Given the description of an element on the screen output the (x, y) to click on. 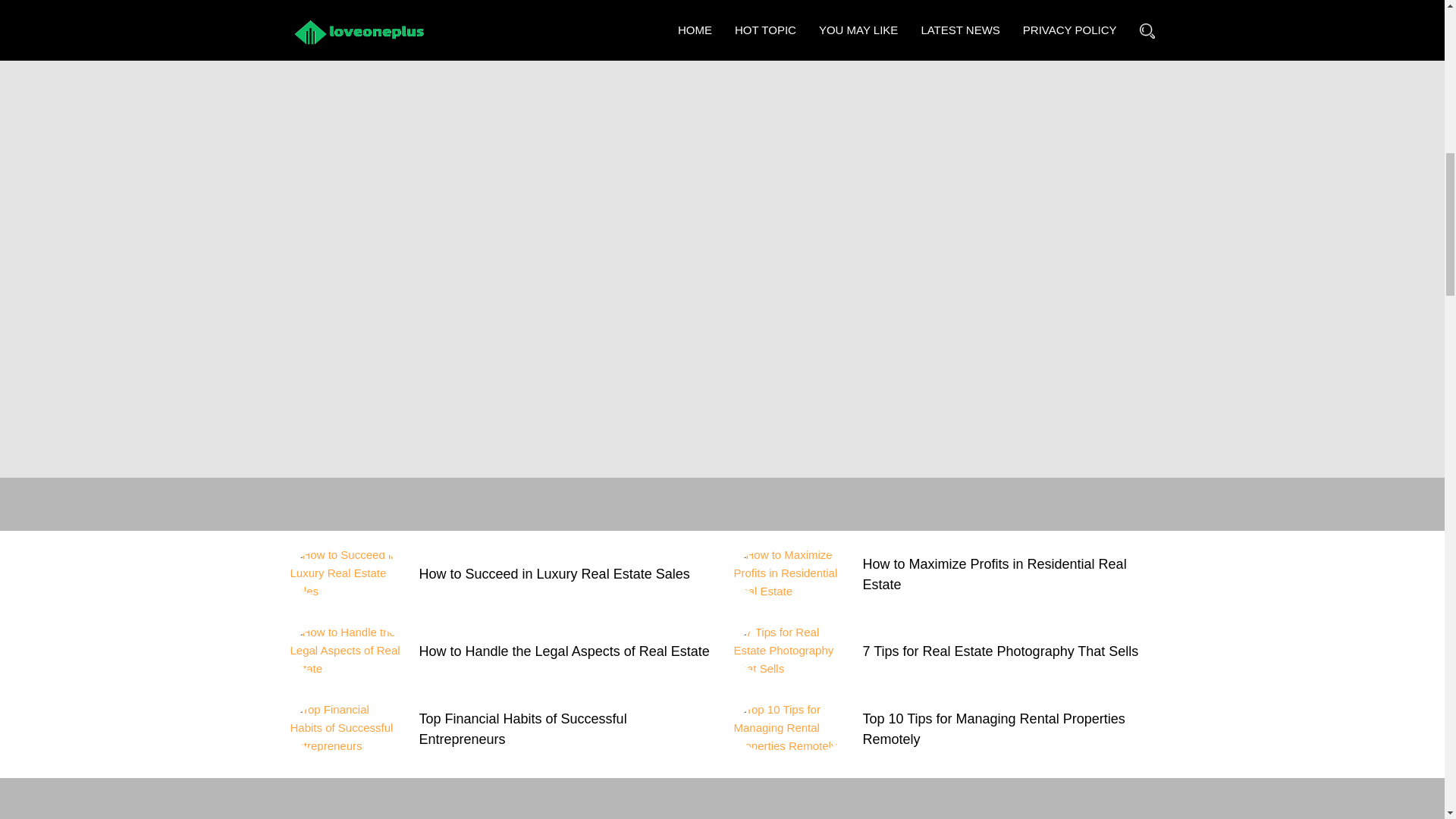
Read More (611, 11)
Read More (1054, 11)
How to Succeed in Luxury Real Estate Sales (553, 573)
